Given the description of an element on the screen output the (x, y) to click on. 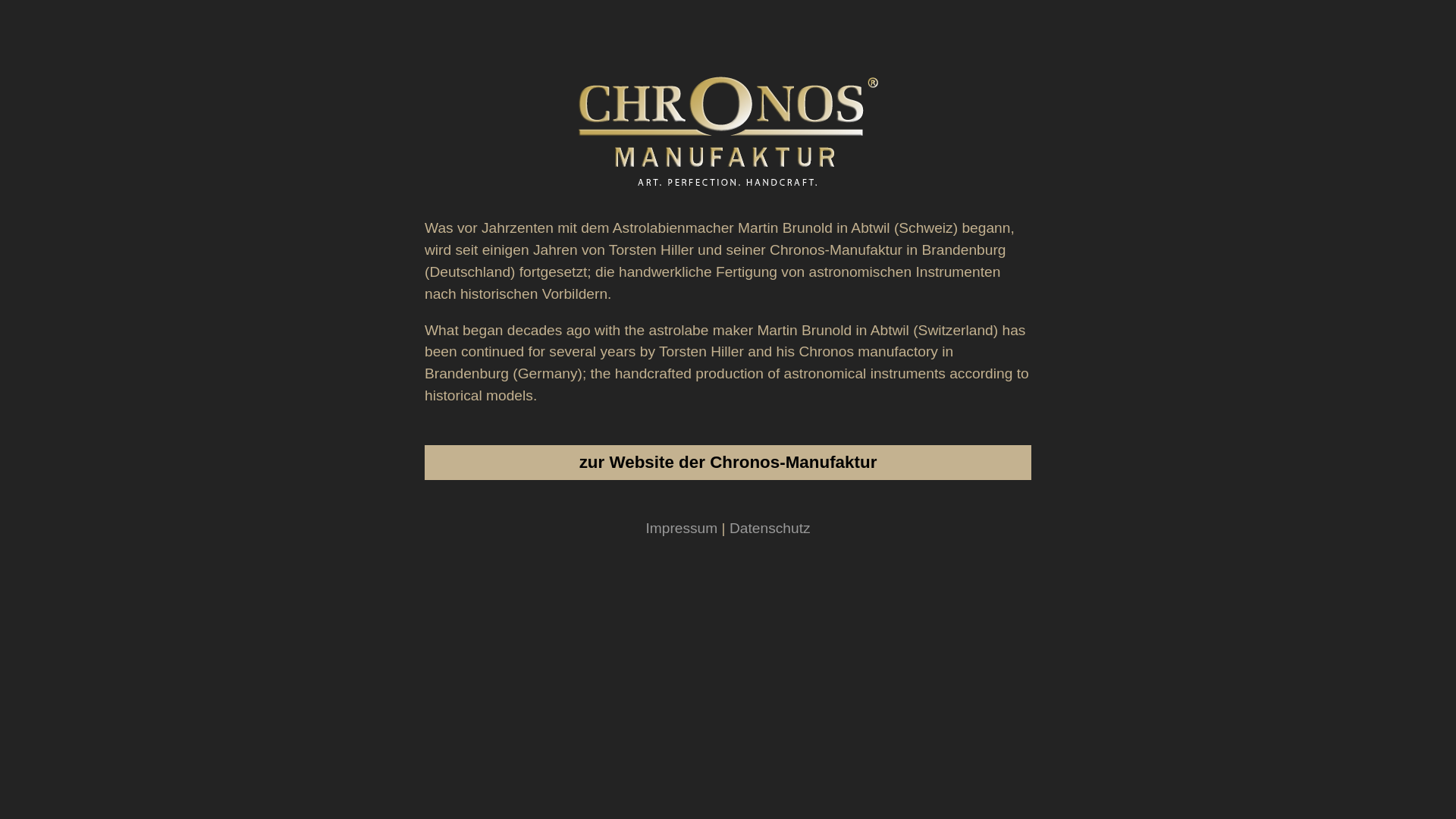
zur Website der Chronos-Manufaktur Element type: text (727, 462)
Impressum Element type: text (681, 528)
Datenschutz Element type: text (769, 528)
